Given the description of an element on the screen output the (x, y) to click on. 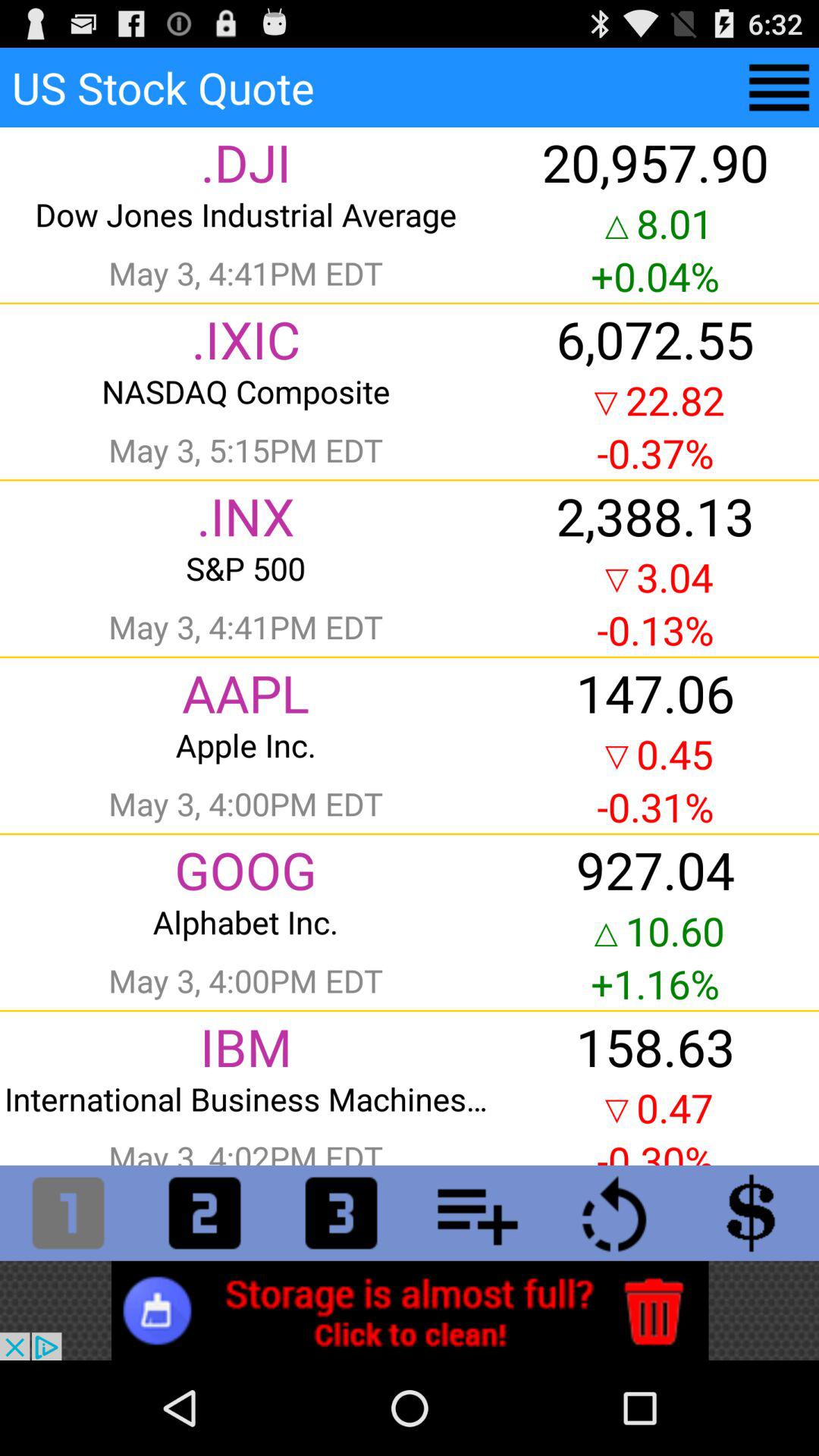
select the dollar icon on the bottom  right corner of the web page (750, 1213)
